Given the description of an element on the screen output the (x, y) to click on. 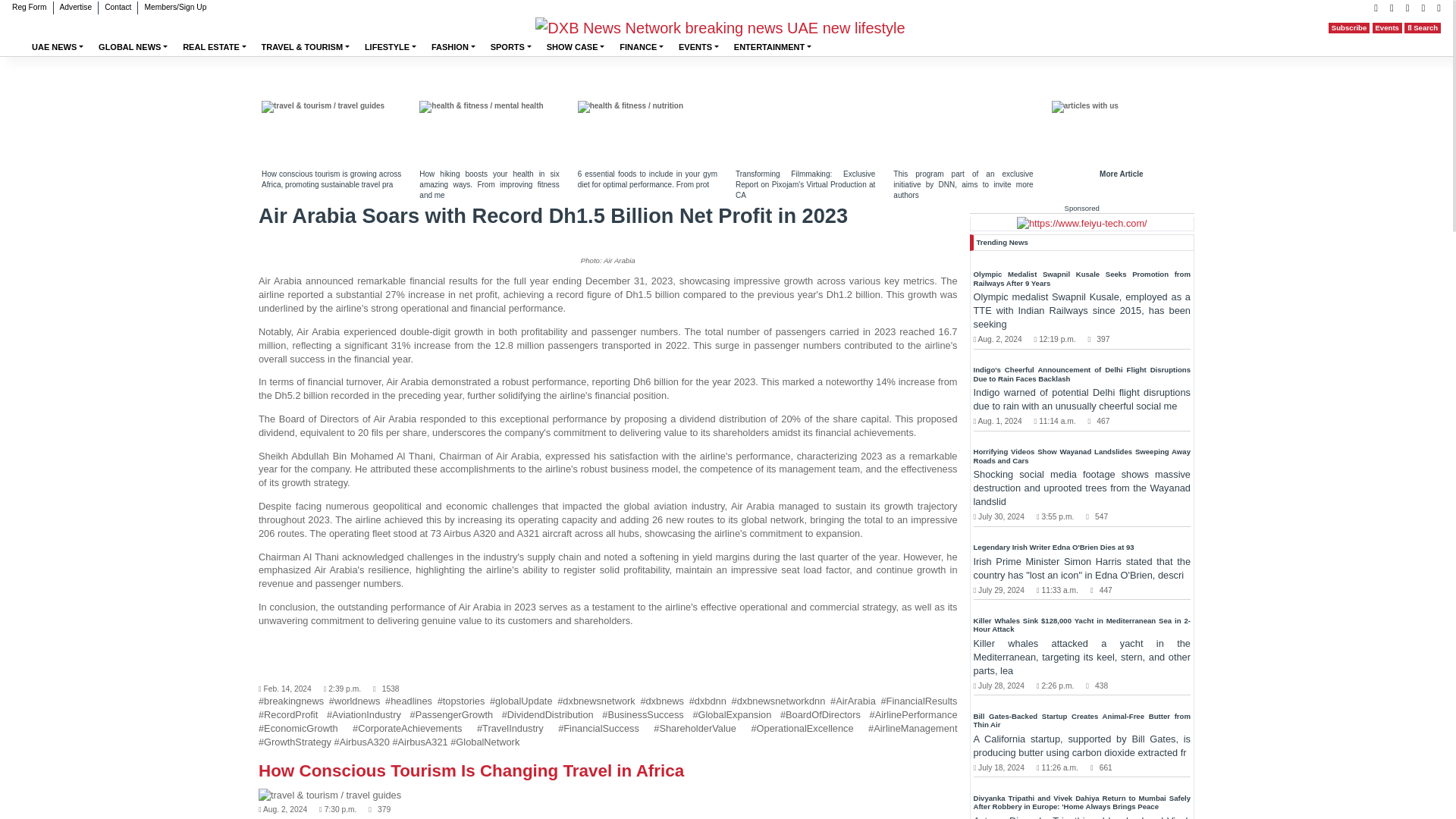
SPORTS (510, 47)
Advertise (74, 8)
Events (1387, 27)
UAE NEWS (57, 47)
LIFESTYLE (389, 47)
GLOBAL NEWS (132, 47)
Reg Form (28, 8)
REAL ESTATE (213, 47)
Search (1423, 27)
Contact (117, 8)
Subscribe (1348, 27)
FASHION (453, 47)
